Given the description of an element on the screen output the (x, y) to click on. 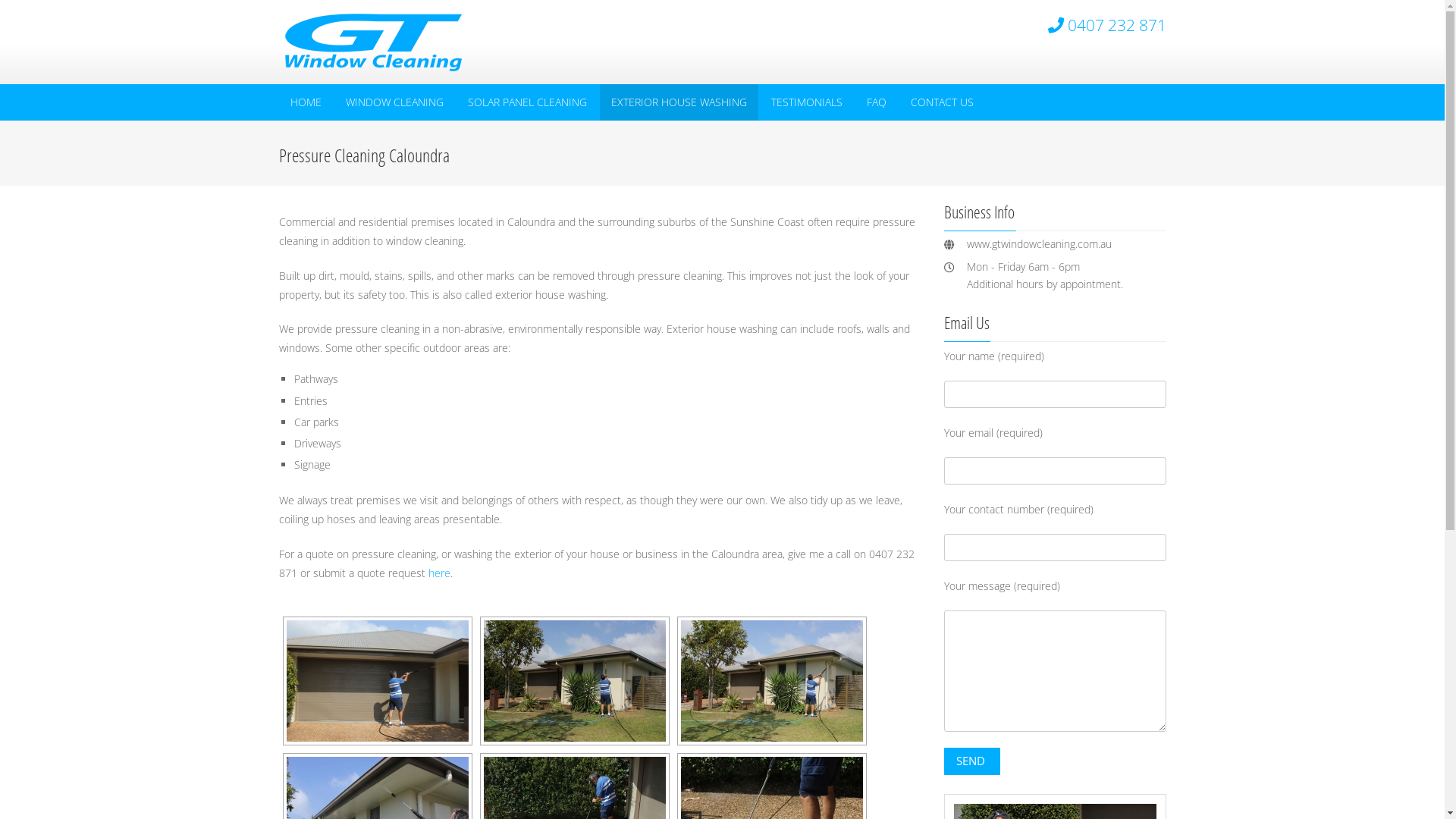
An entire house can be done quickly. Element type: hover (574, 680)
Gary pressure cleaning eaves to remove dirt and mould. Element type: hover (377, 680)
SOLAR PANEL CLEANING Element type: text (527, 102)
here Element type: text (438, 572)
HOME Element type: text (305, 102)
Send Element type: text (972, 761)
CONTACT US Element type: text (942, 102)
TESTIMONIALS Element type: text (806, 102)
FAQ Element type: text (876, 102)
WINDOW CLEANING Element type: text (393, 102)
0407 232 871 Element type: text (1116, 24)
EXTERIOR HOUSE WASHING Element type: text (678, 102)
